Given the description of an element on the screen output the (x, y) to click on. 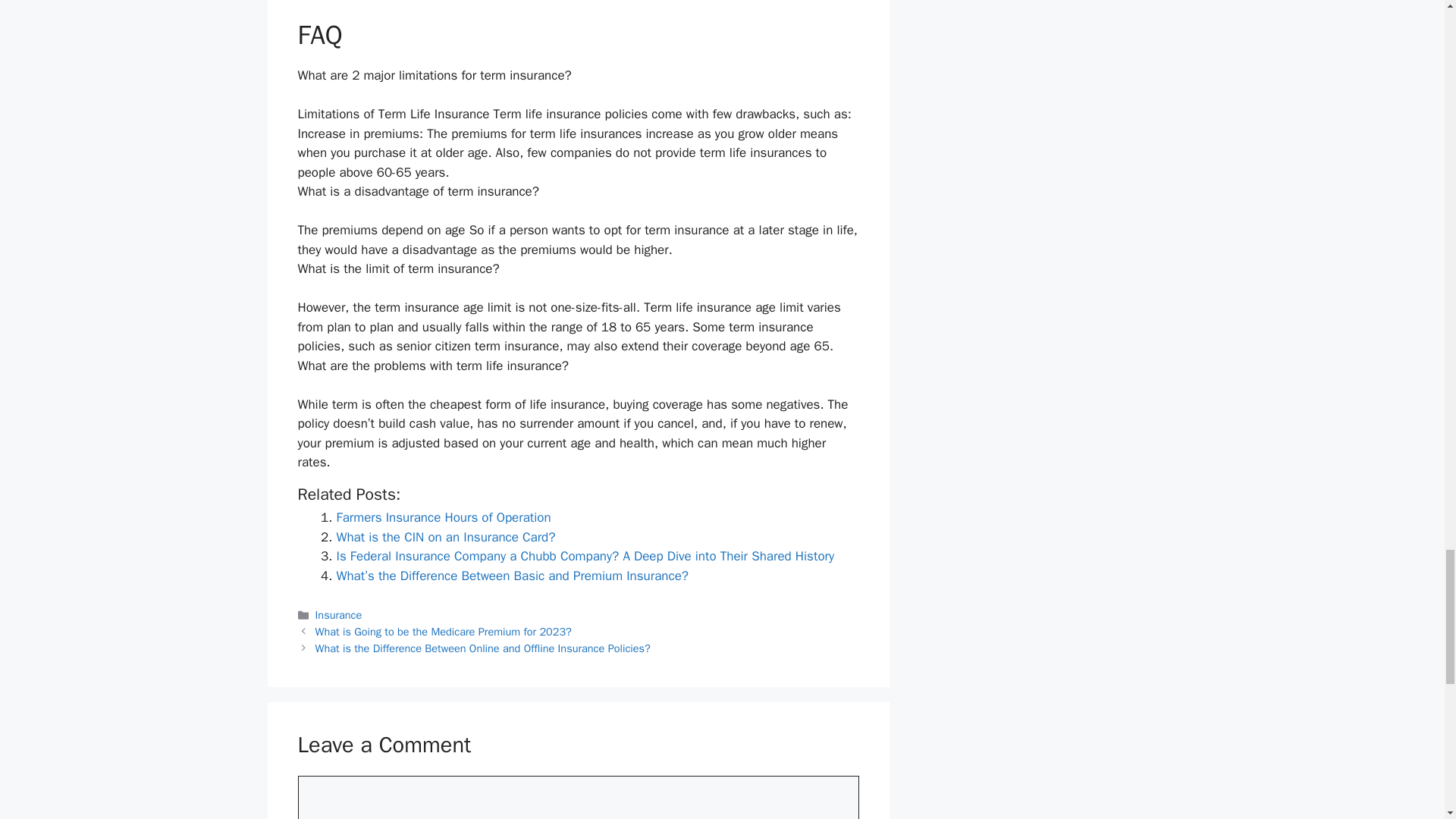
Farmers Insurance Hours of Operation (443, 517)
Insurance (338, 614)
What is the CIN on an Insurance Card? (446, 537)
Farmers Insurance Hours of Operation (443, 517)
Previous (443, 631)
What is the CIN on an Insurance Card? (446, 537)
Next (482, 648)
What is Going to be the Medicare Premium for 2023? (443, 631)
